Given the description of an element on the screen output the (x, y) to click on. 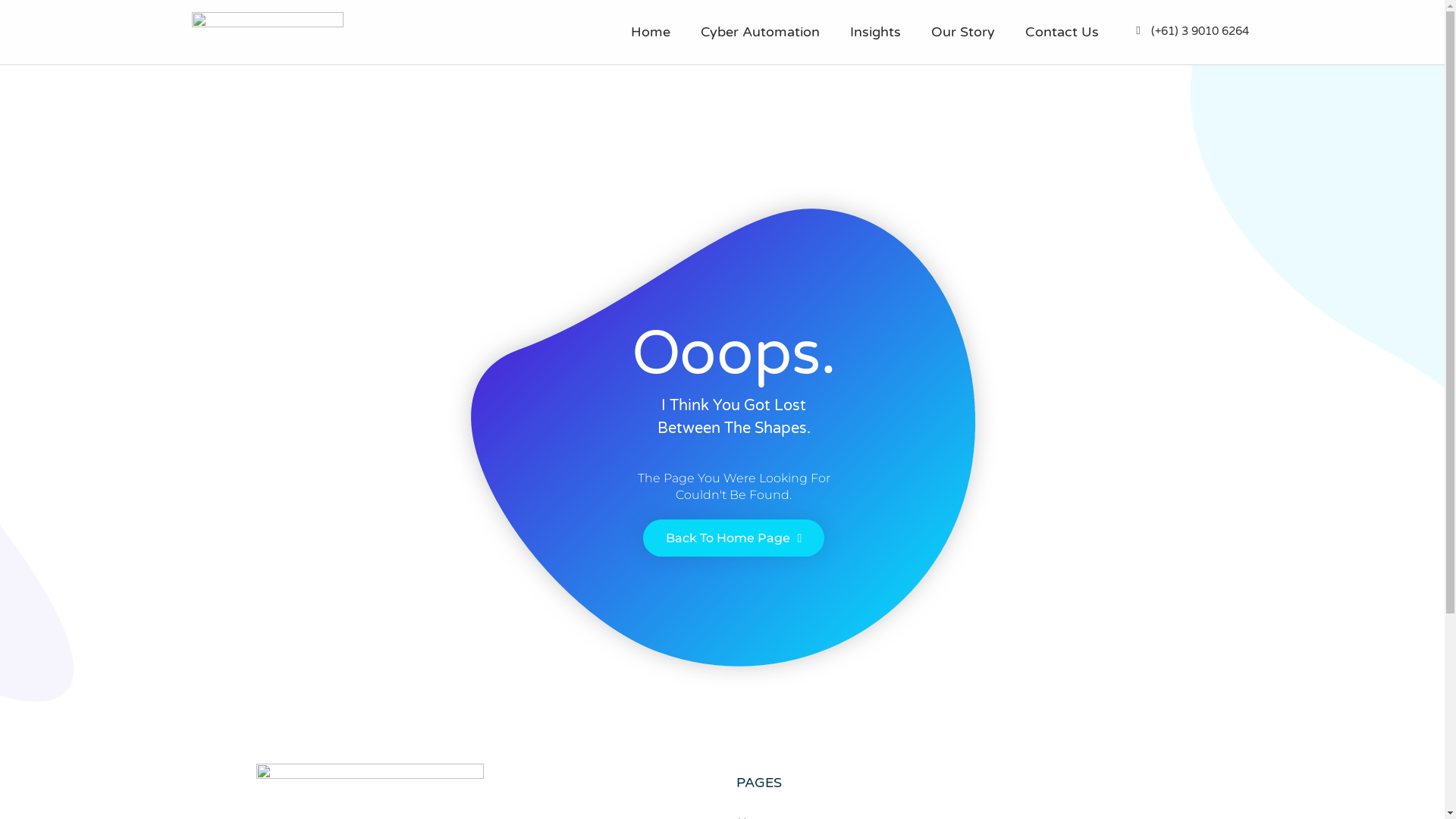
Back To Home Page Element type: text (734, 537)
Our Story Element type: text (963, 32)
Cyber Automation Element type: text (759, 32)
Home Element type: text (650, 32)
Contact Us Element type: text (1061, 32)
Insights Element type: text (875, 32)
(+61) 3 9010 6264 Element type: text (1199, 30)
